Given the description of an element on the screen output the (x, y) to click on. 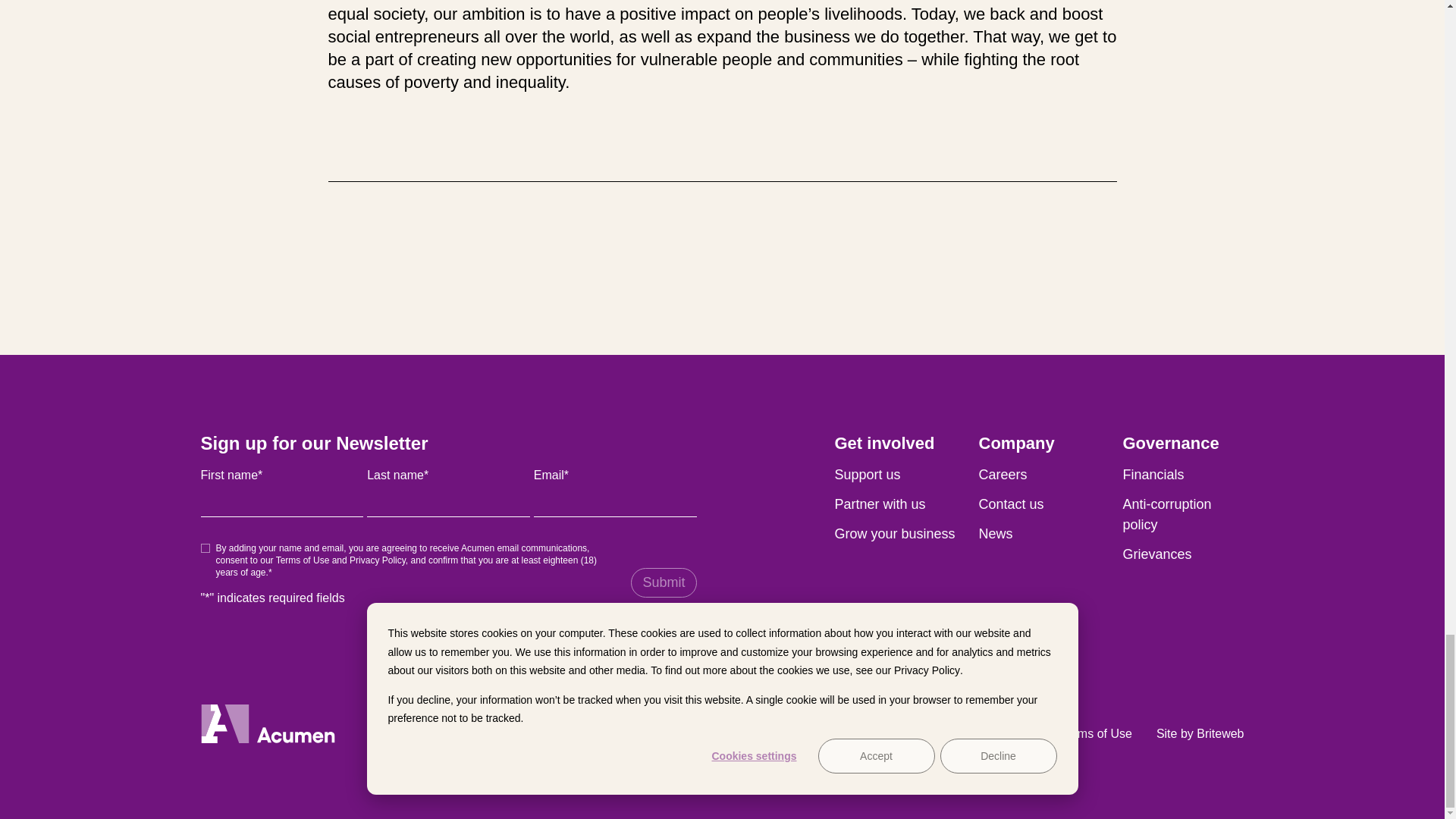
Instagram (667, 731)
1 (204, 547)
LinkedIn (776, 731)
Facebook (694, 731)
YouTube (749, 731)
